Given the description of an element on the screen output the (x, y) to click on. 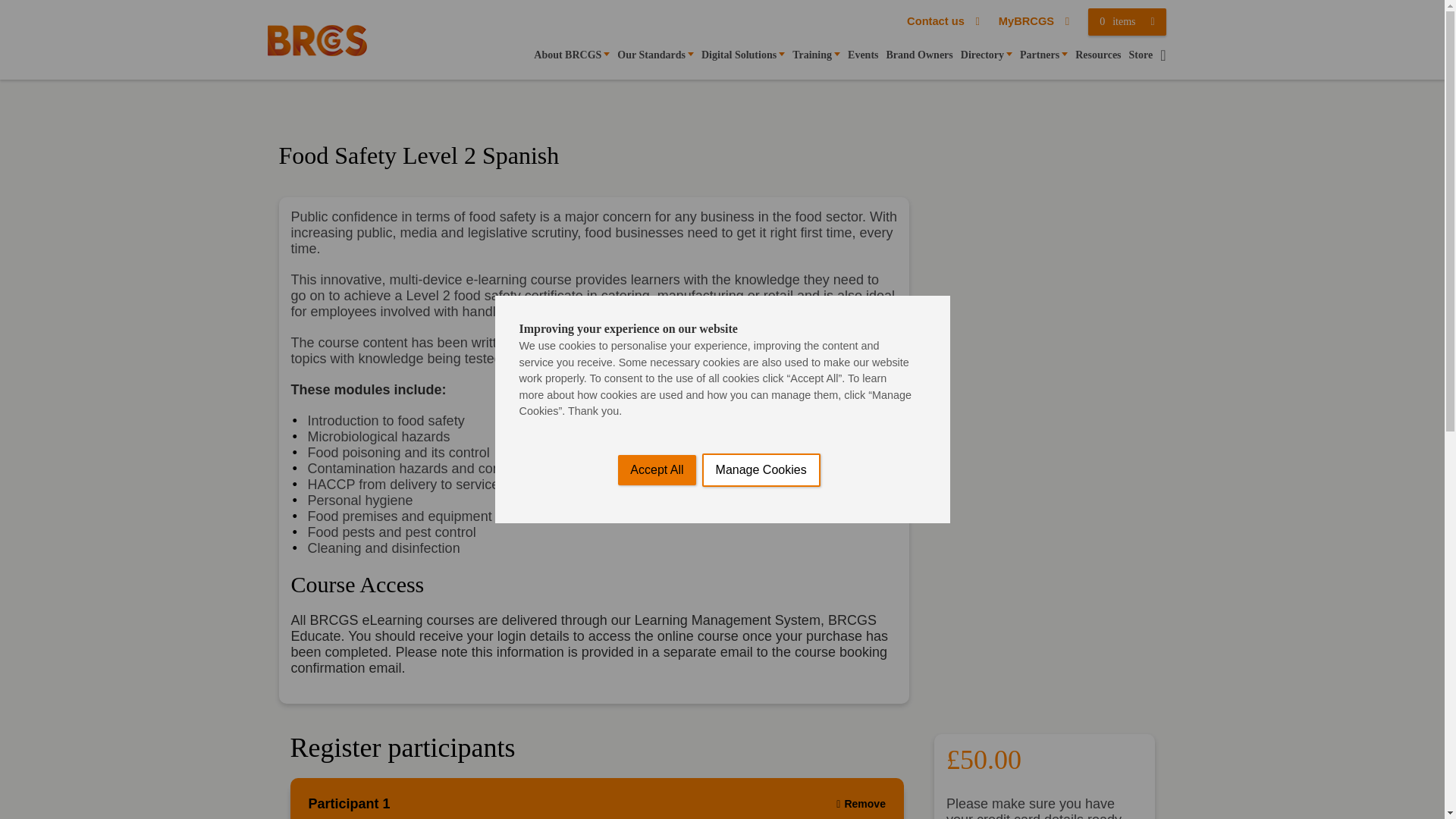
Manage Cookies (761, 795)
Accept All (656, 802)
